Given the description of an element on the screen output the (x, y) to click on. 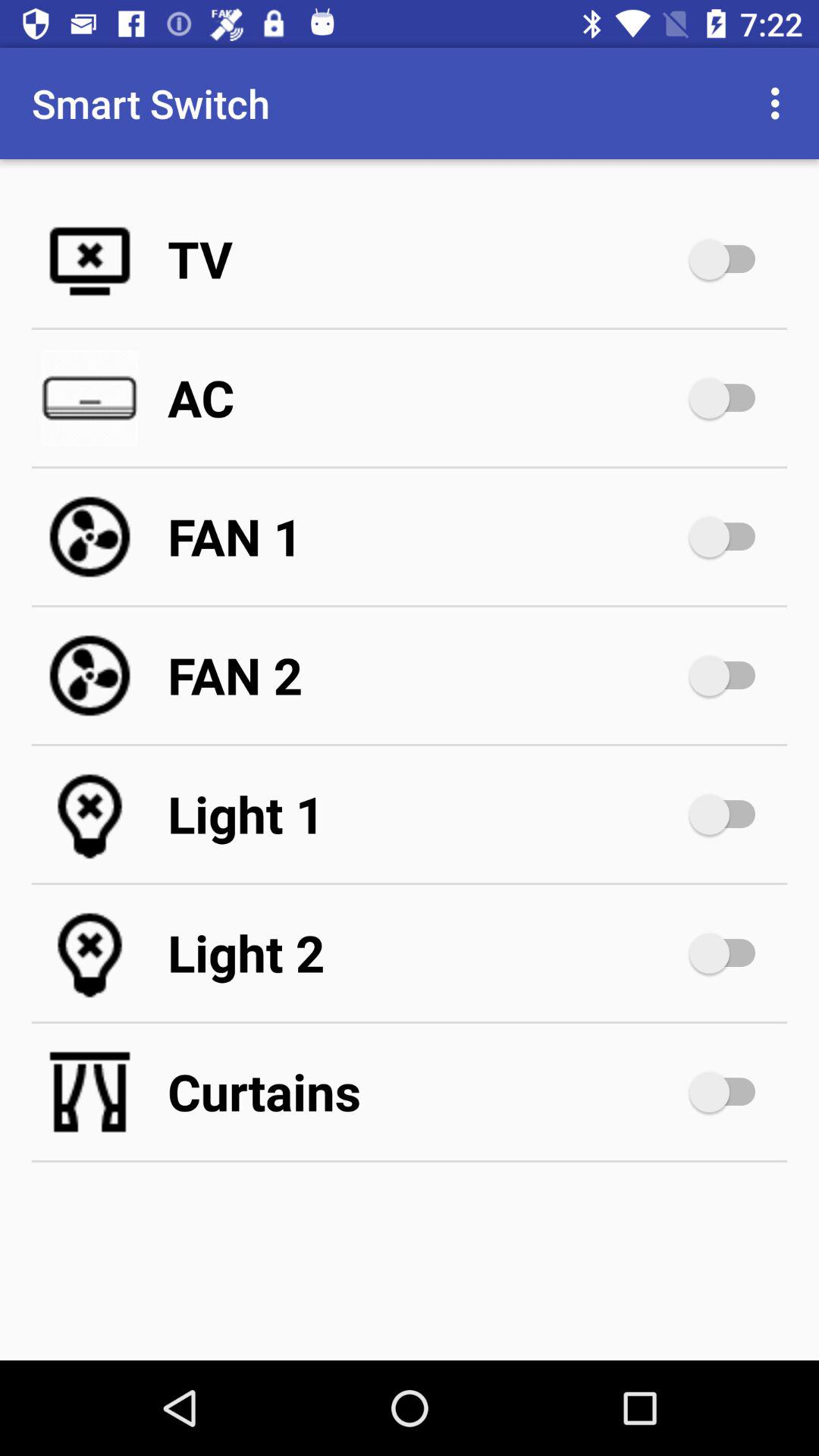
toggle fan 1 option (729, 536)
